Given the description of an element on the screen output the (x, y) to click on. 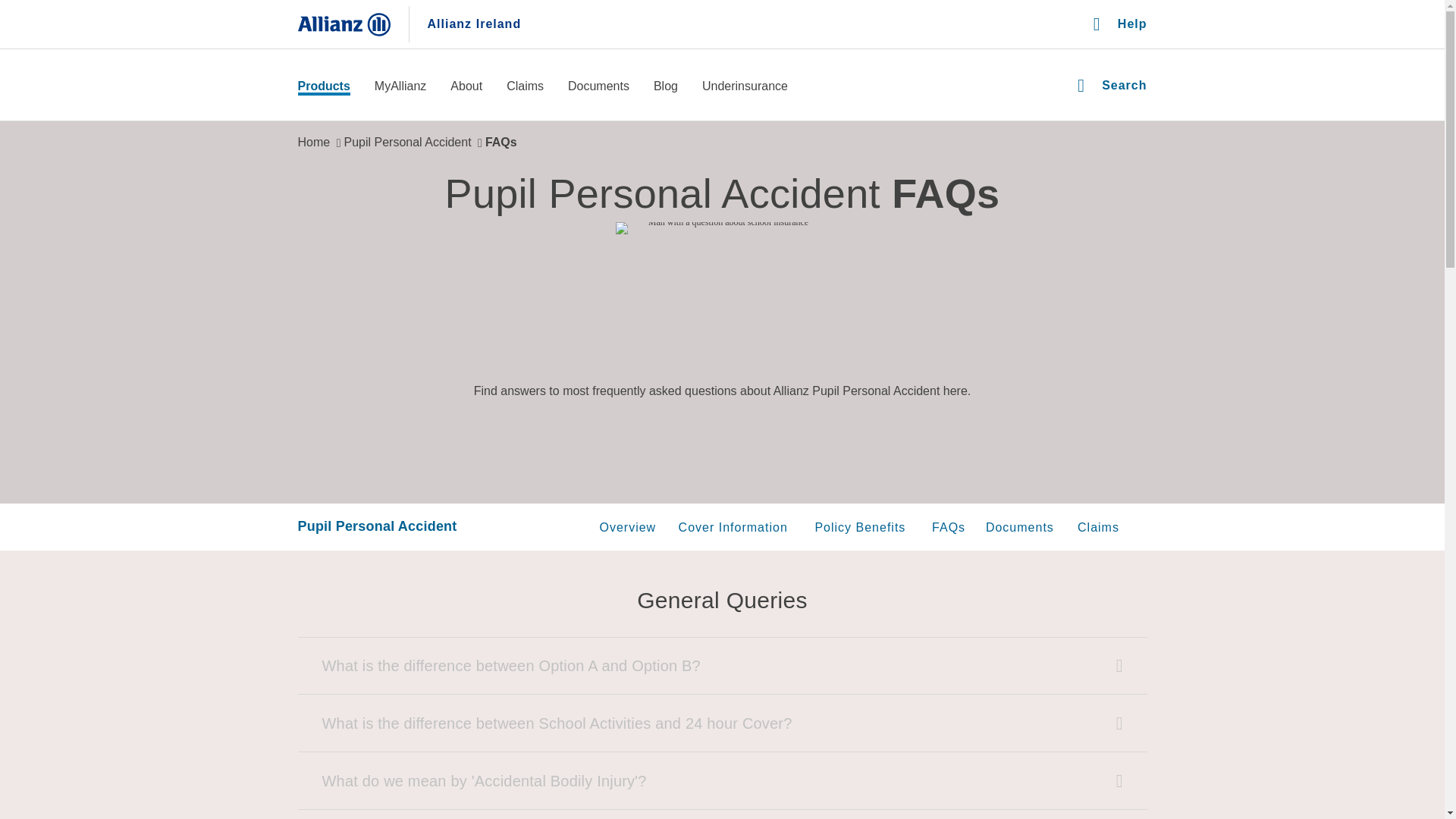
Help (1120, 24)
Products (323, 87)
